Given the description of an element on the screen output the (x, y) to click on. 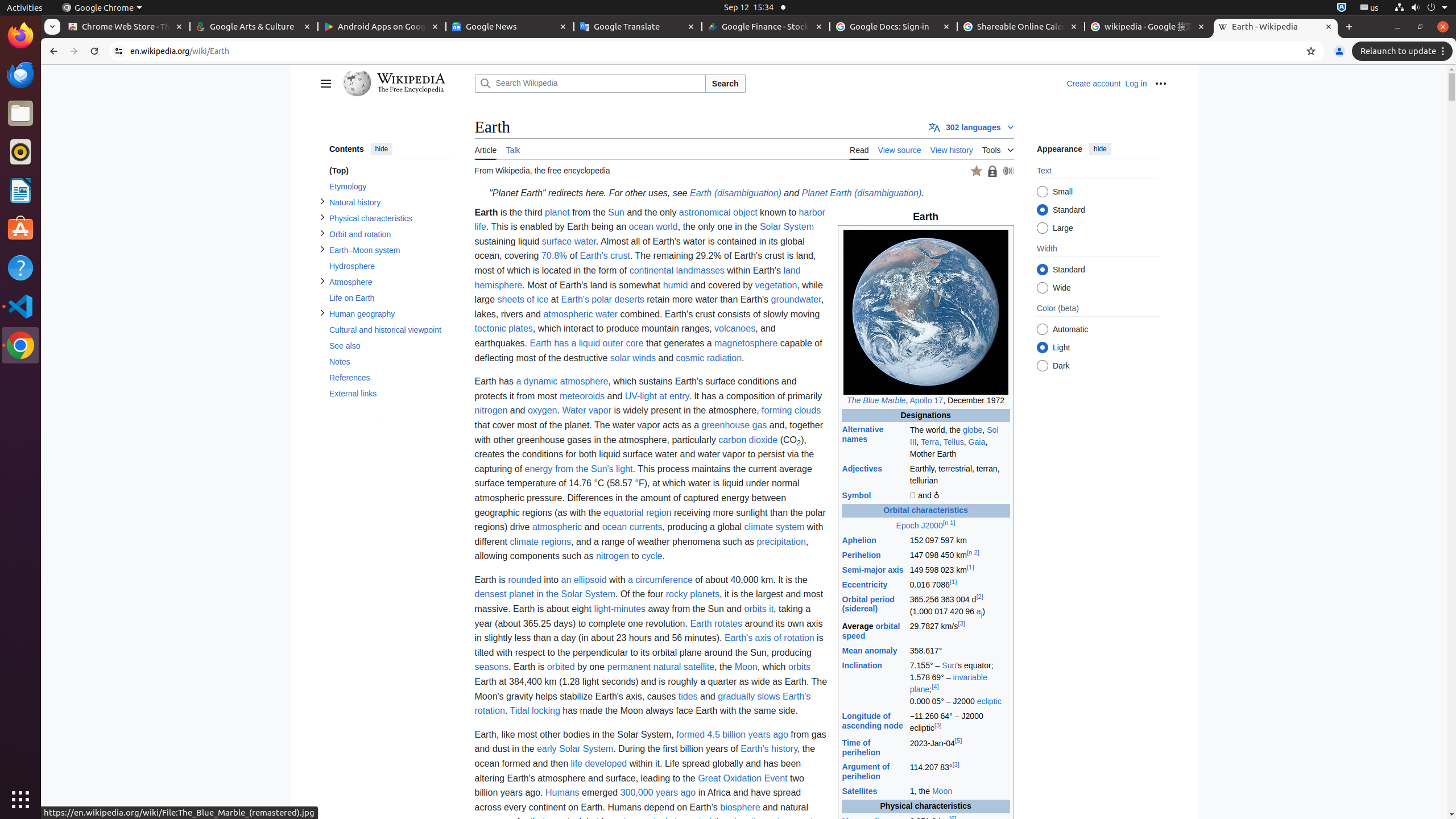
Semi-major axis Element type: link (872, 569)
cycle Element type: link (651, 556)
Photograph of Earth taken by the Apollo 17 mission. The Arabian peninsula, Africa and Madagascar lie in the upper half of the disc, whereas Antarctica is at the bottom. The Blue Marble, Apollo 17, December 1972 Element type: table-cell (925, 317)
1, the Moon Element type: table-cell (959, 791)
Epoch J2000[n 1] Element type: table-cell (925, 525)
